Given the description of an element on the screen output the (x, y) to click on. 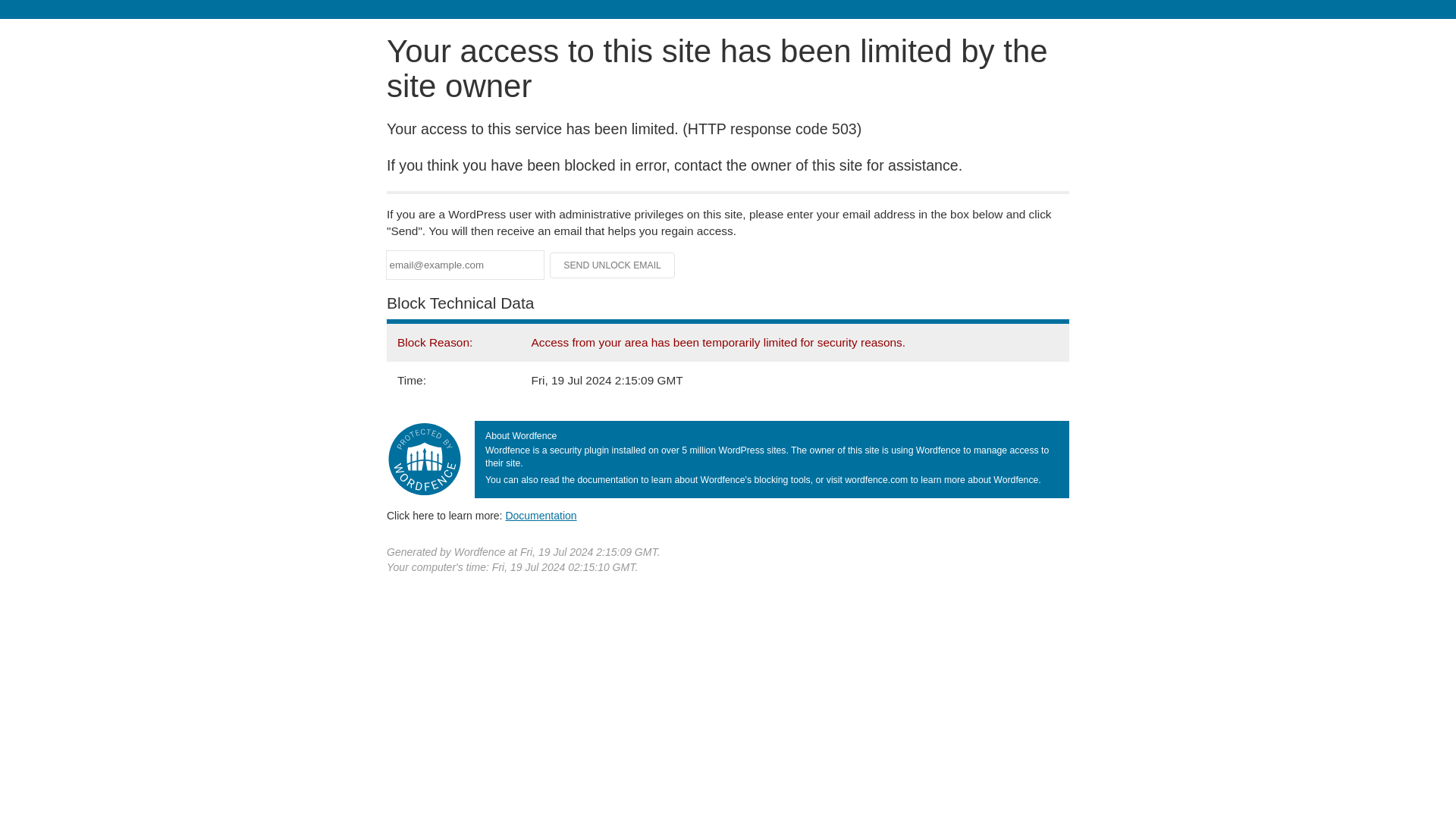
Send Unlock Email (612, 265)
Send Unlock Email (612, 265)
Documentation (540, 515)
